Given the description of an element on the screen output the (x, y) to click on. 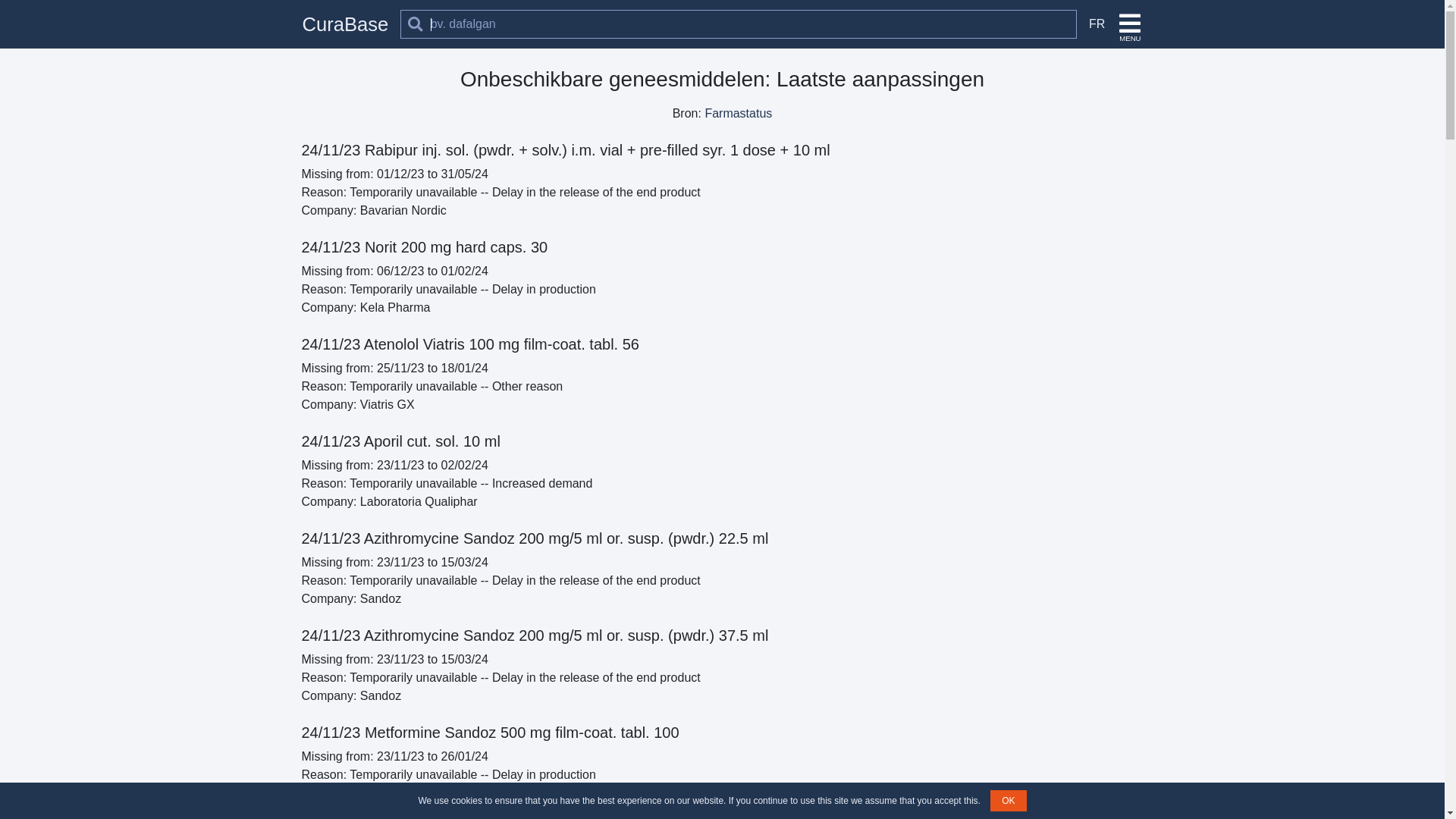
FR Element type: text (1093, 24)
MENU Element type: text (1129, 24)
CuraBase Element type: text (344, 24)
Farmastatus Element type: text (737, 112)
